Given the description of an element on the screen output the (x, y) to click on. 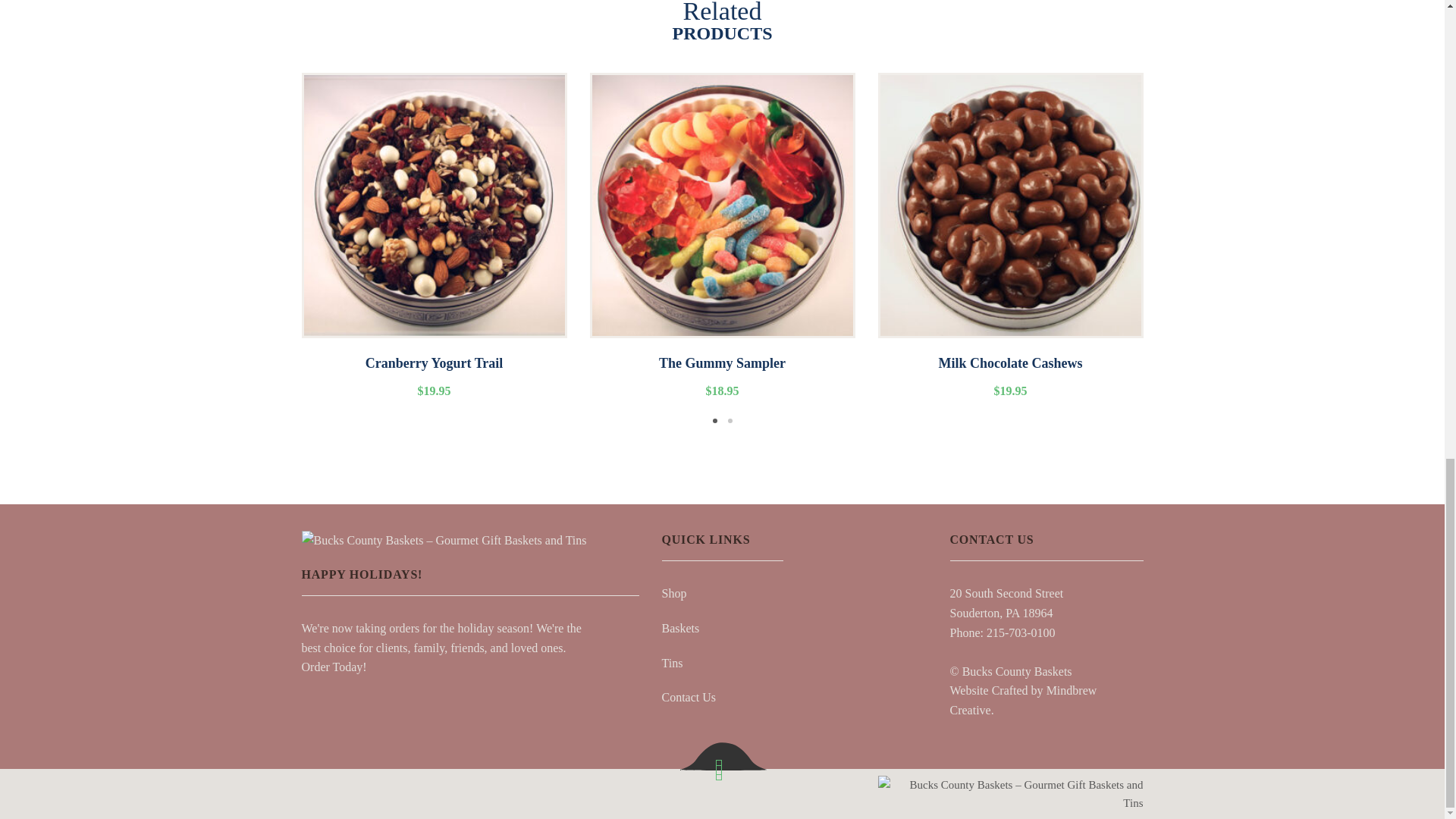
Cranberry Yogurt Trail (434, 374)
Previous (278, 250)
